Given the description of an element on the screen output the (x, y) to click on. 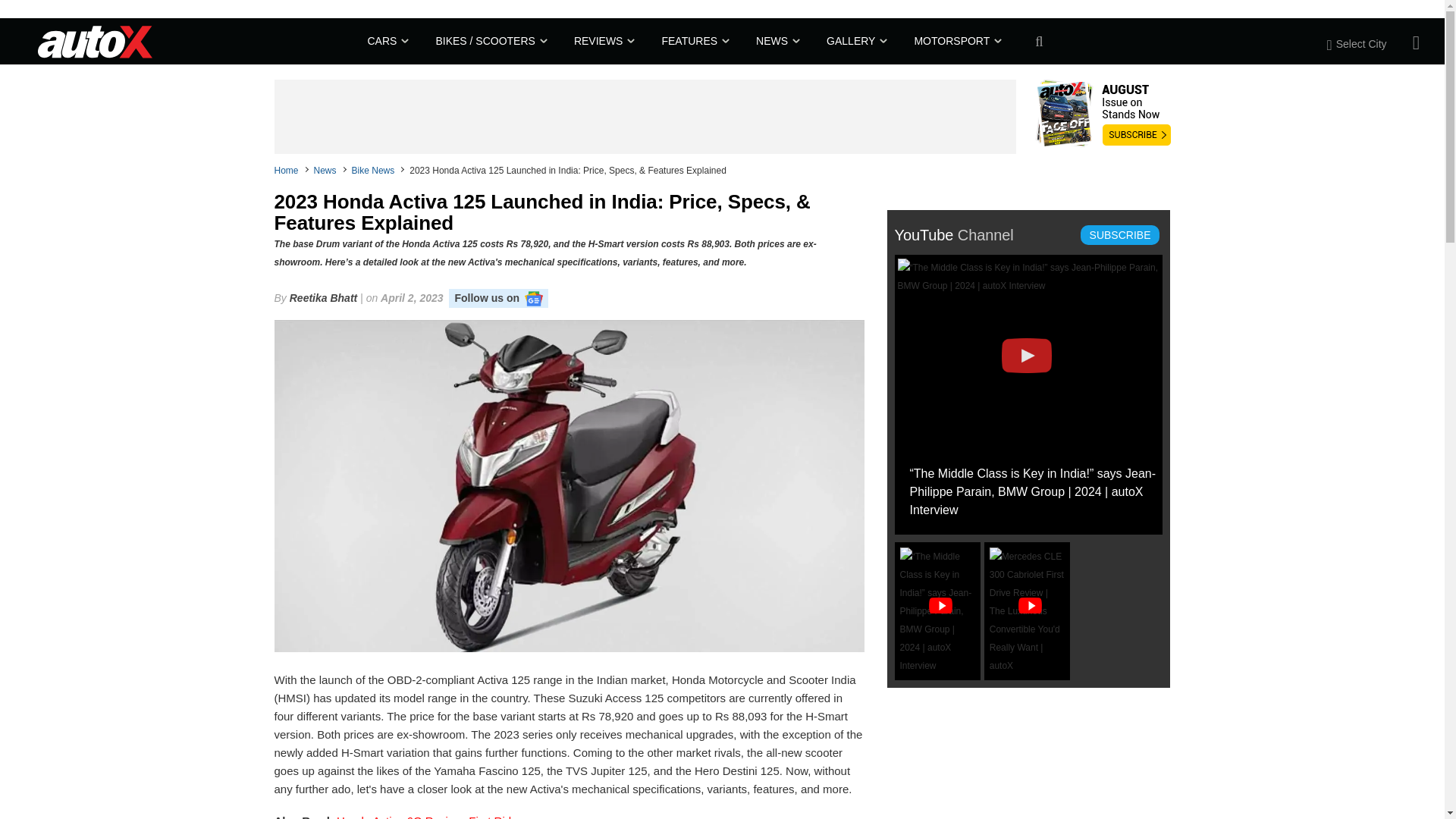
3rd party ad content (1000, 764)
REVIEWS (601, 40)
3rd party ad content (645, 116)
CARS (386, 40)
Select City (1364, 43)
